Given the description of an element on the screen output the (x, y) to click on. 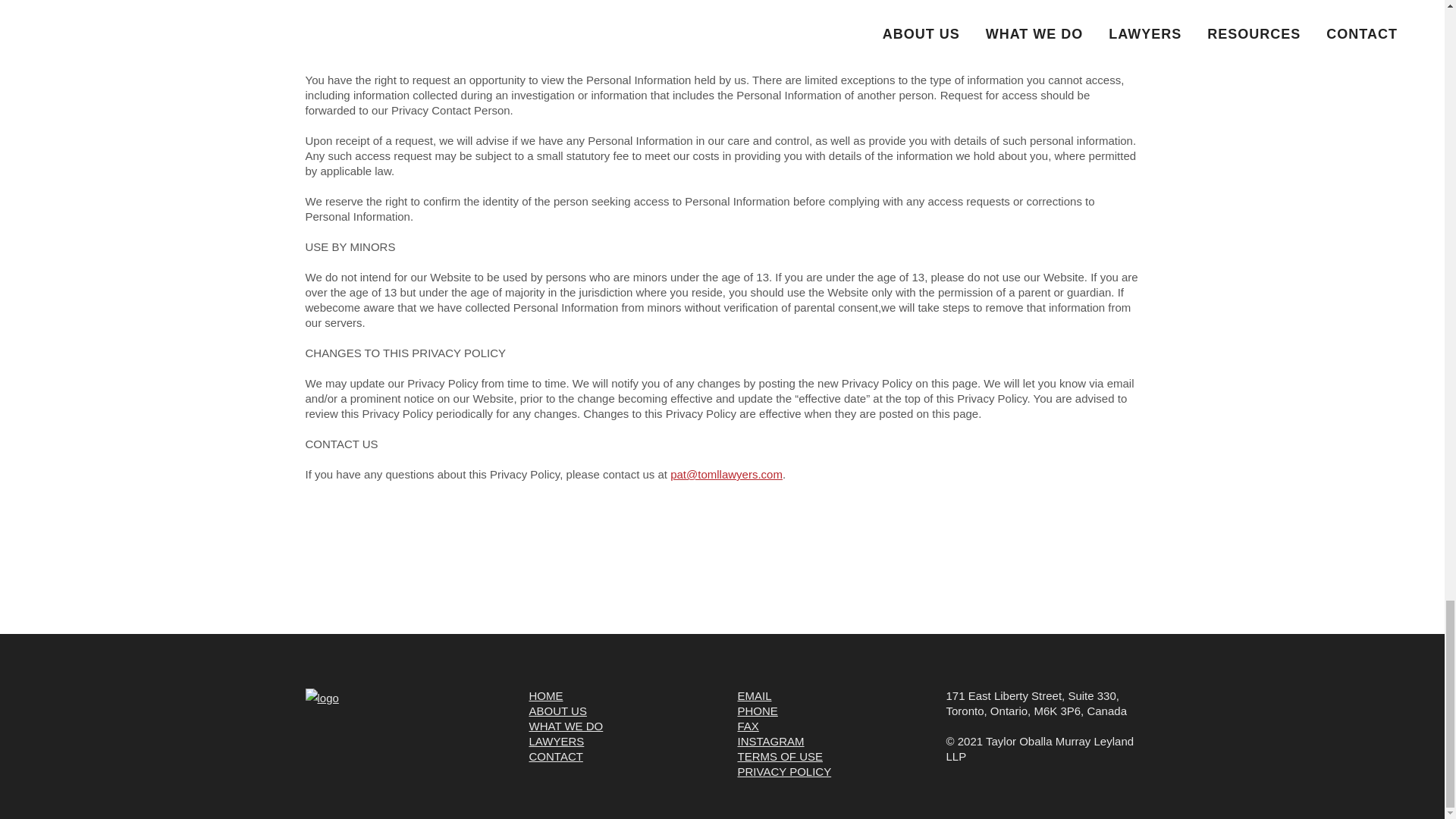
LAWYERS (557, 740)
ABOUT US (557, 710)
CONTACT (556, 756)
HOME (546, 695)
WHAT WE DO (566, 725)
